Given the description of an element on the screen output the (x, y) to click on. 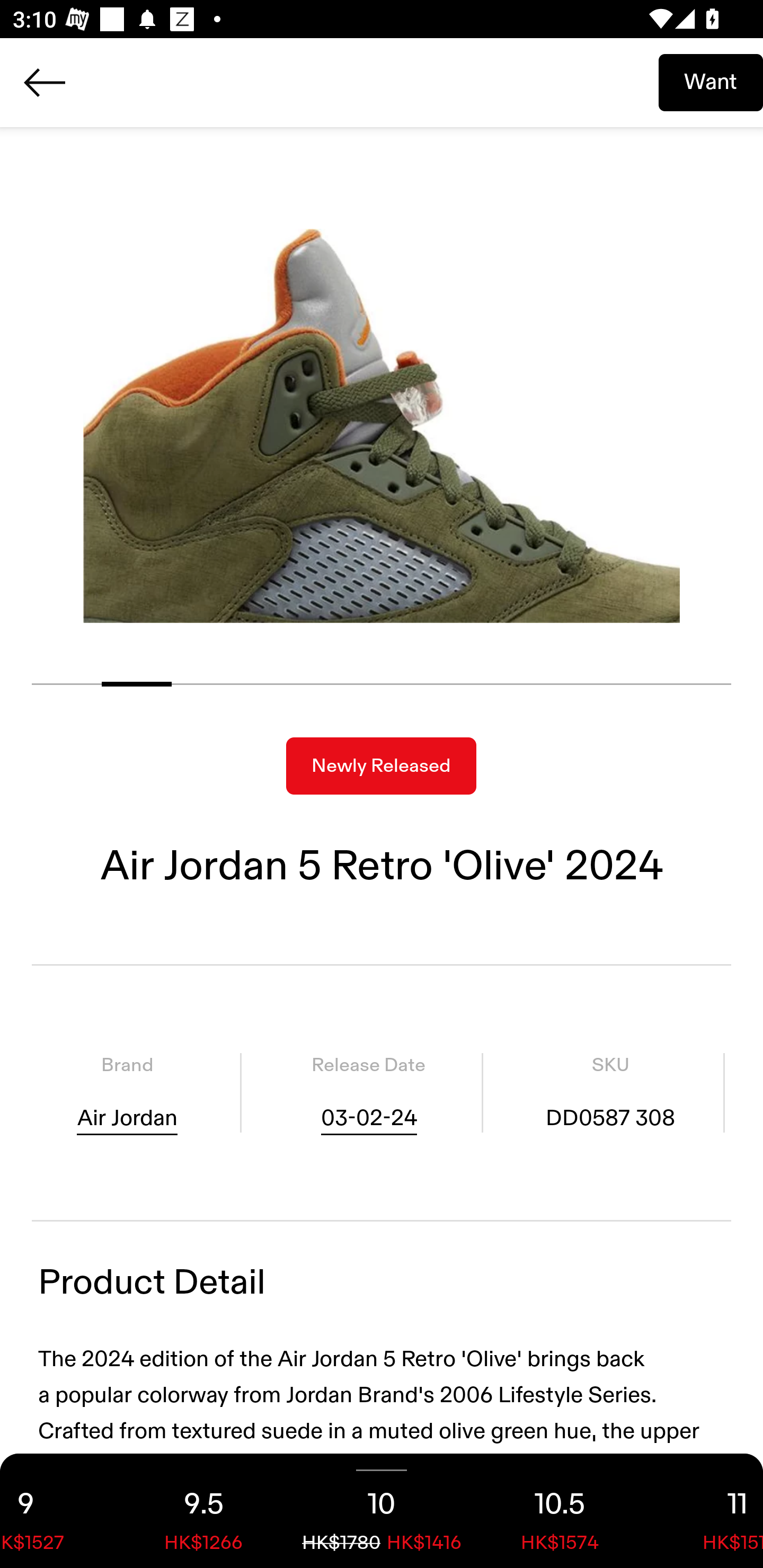
Want (710, 82)
Newly Released (381, 765)
Brand Air Jordan (126, 1092)
Release Date 03-02-24 (368, 1092)
SKU DD0587 308 (609, 1092)
9 HK$1527 (57, 1510)
9.5 HK$1266 (203, 1510)
10 HK$1780 HK$1416 (381, 1510)
10.5 HK$1574 (559, 1510)
11 HK$1511 (705, 1510)
